Given the description of an element on the screen output the (x, y) to click on. 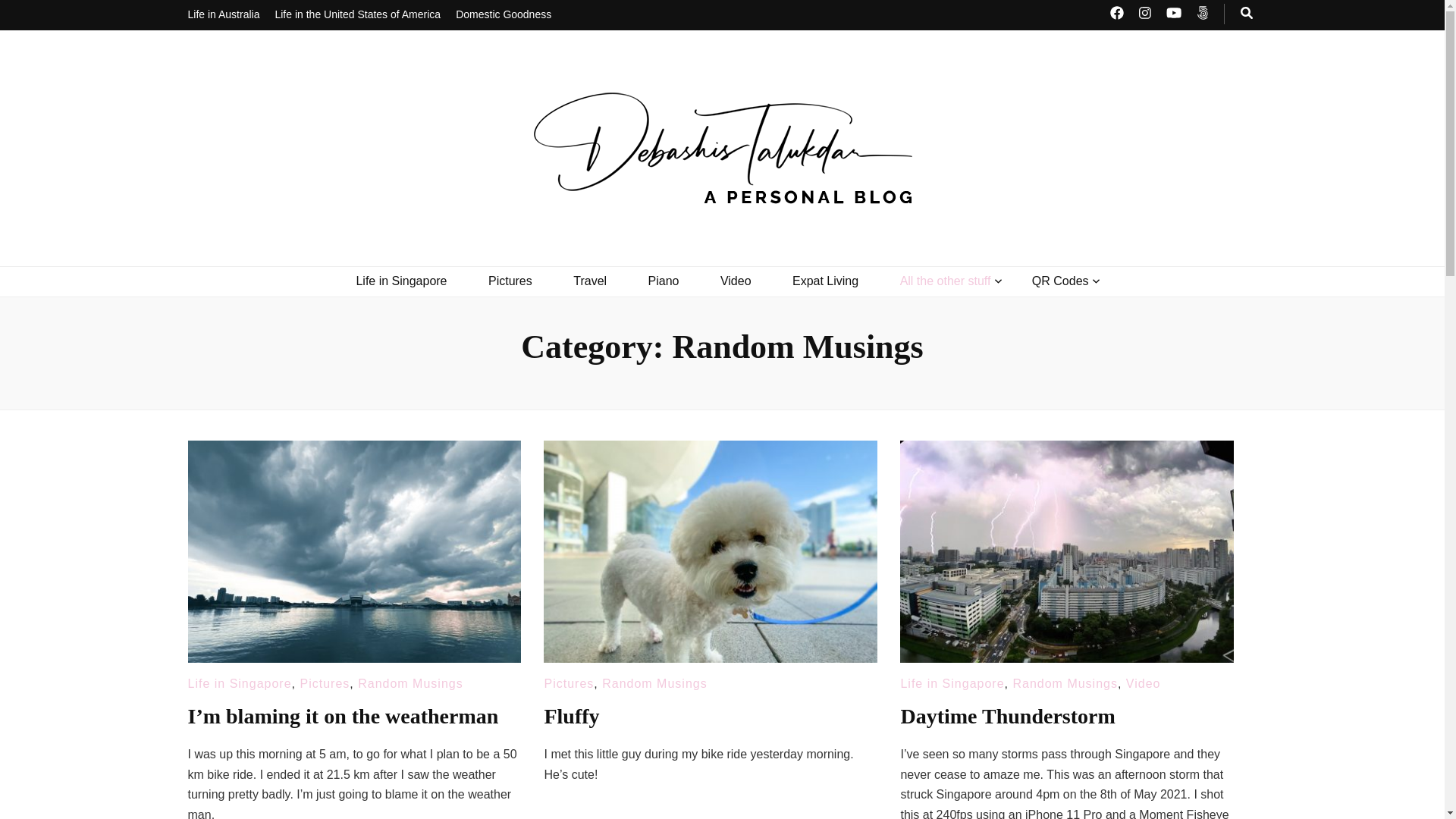
Travel (590, 281)
Piano (663, 281)
Pictures (509, 281)
Domestic Goodness (503, 15)
Life in Australia (223, 15)
Video (735, 281)
Expat Living (825, 281)
QR Codes (1060, 281)
Life in the United States of America (358, 15)
All the other stuff (945, 281)
Life in Singapore (400, 281)
